Given the description of an element on the screen output the (x, y) to click on. 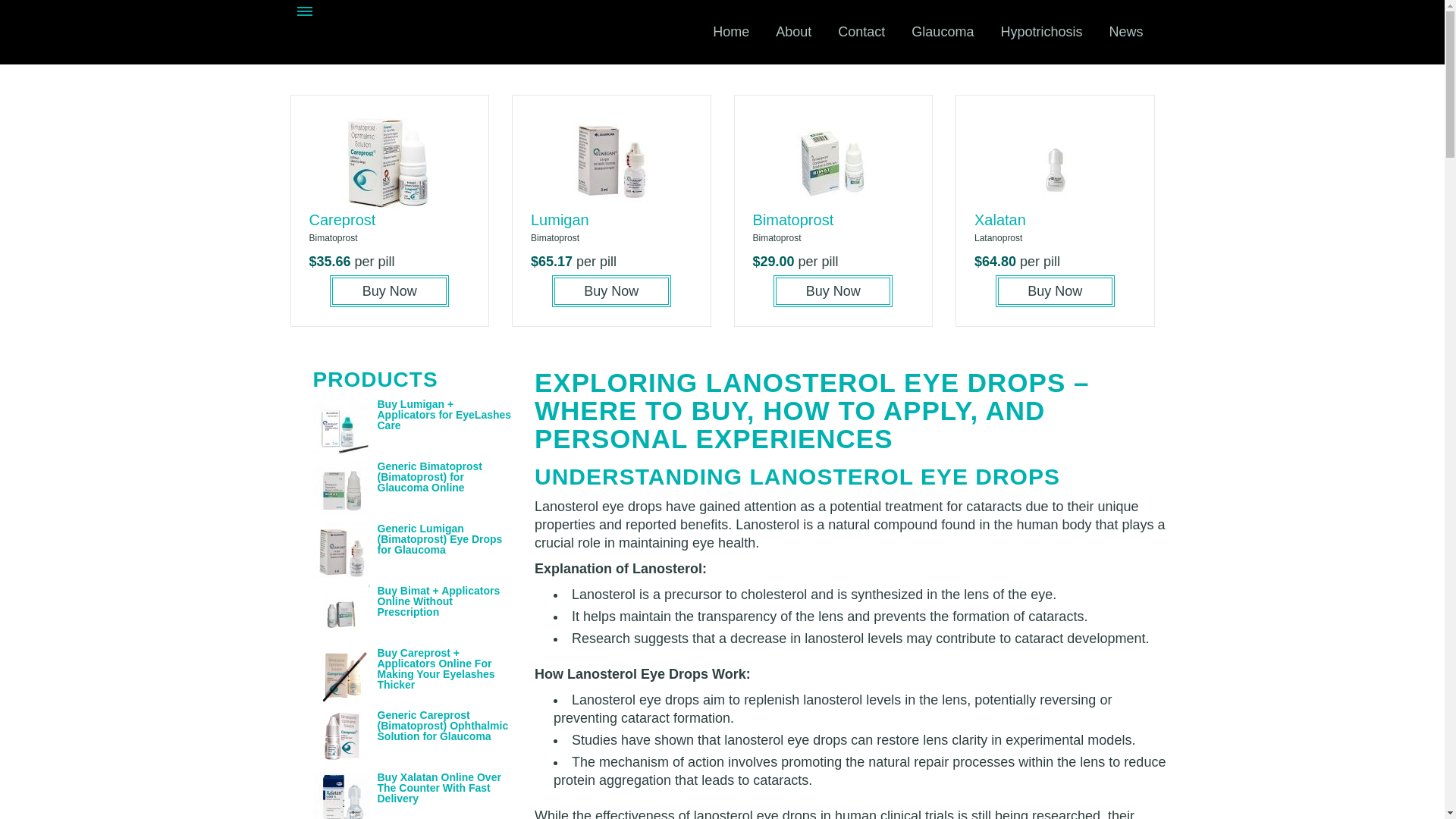
Home (730, 32)
Contact (861, 32)
Careprost (341, 219)
Buy Xalatan Online Over The Counter With Fast Delivery (438, 787)
Buy Now (1055, 290)
Hypotrichosis (1040, 32)
Bimatoprost (792, 219)
Glaucoma (942, 32)
Buy Now (611, 290)
Buy Xalatan Online Over The Counter With Fast Delivery (438, 787)
